Given the description of an element on the screen output the (x, y) to click on. 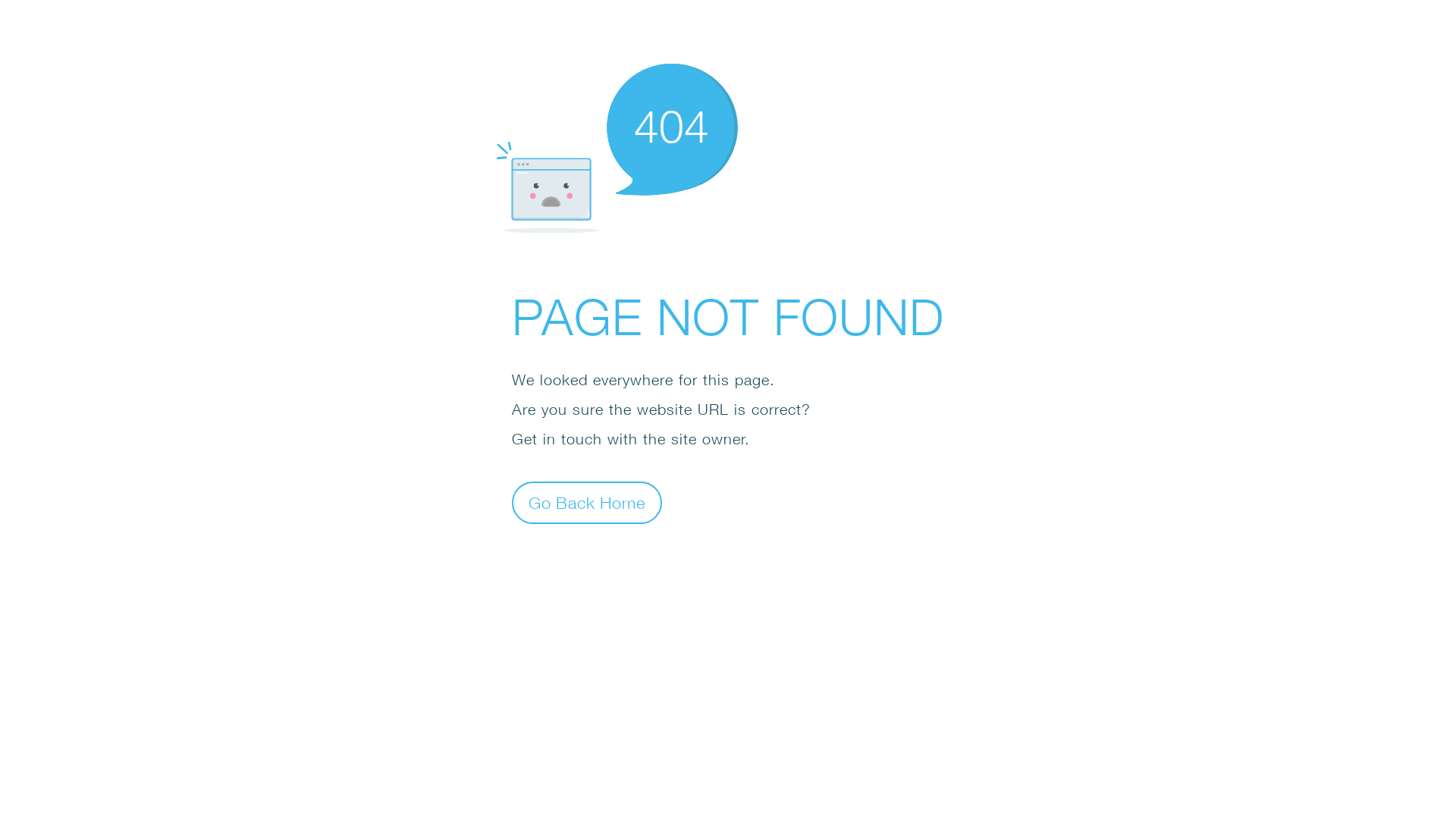
Go Back Home Element type: text (586, 502)
